Given the description of an element on the screen output the (x, y) to click on. 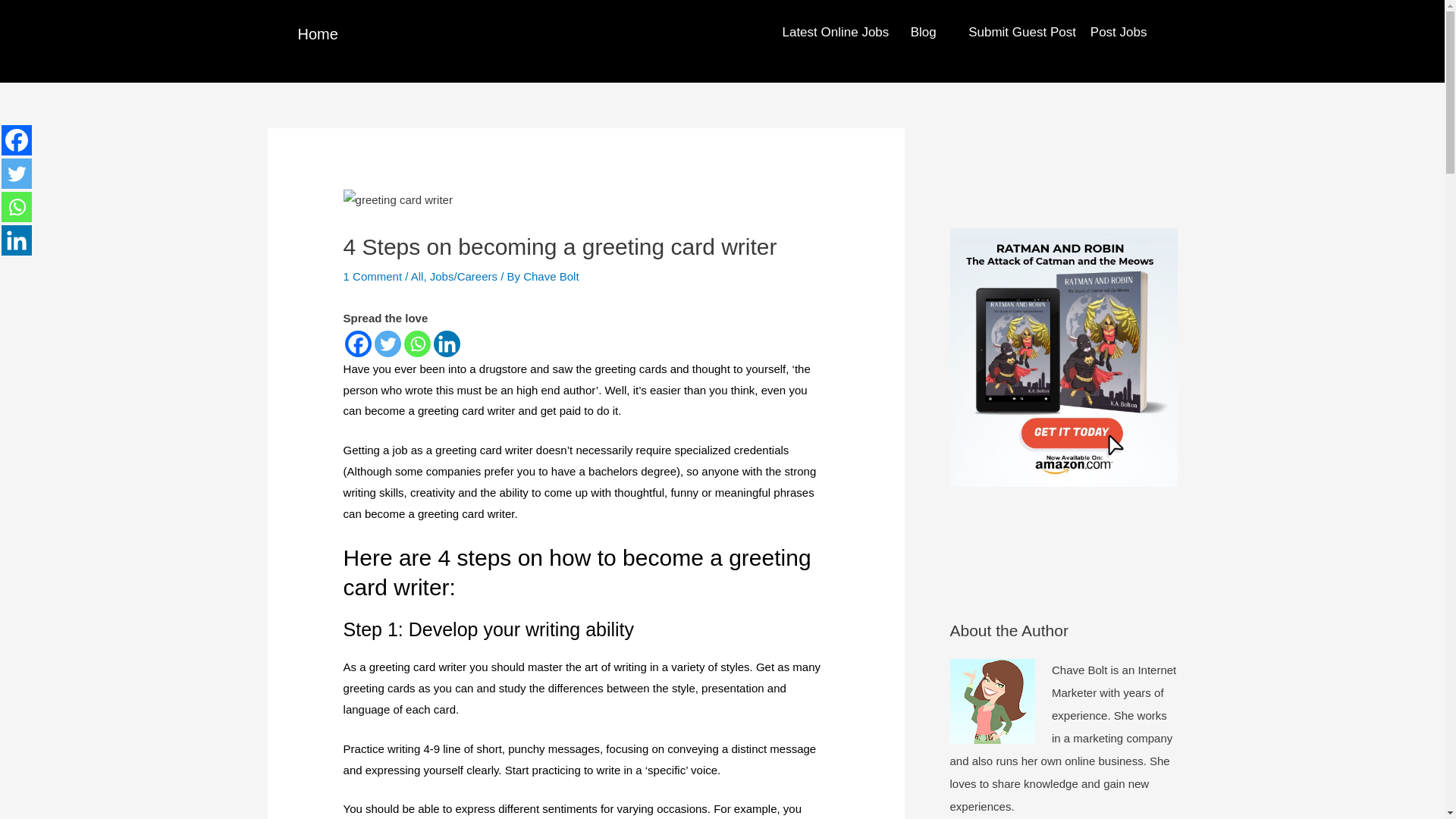
Whatsapp (417, 343)
Linkedin (16, 240)
Home (317, 33)
Twitter (16, 173)
Twitter (387, 343)
Whatsapp (16, 206)
1 Comment (373, 276)
Facebook (16, 140)
All (416, 276)
Latest Online Jobs (834, 32)
